Given the description of an element on the screen output the (x, y) to click on. 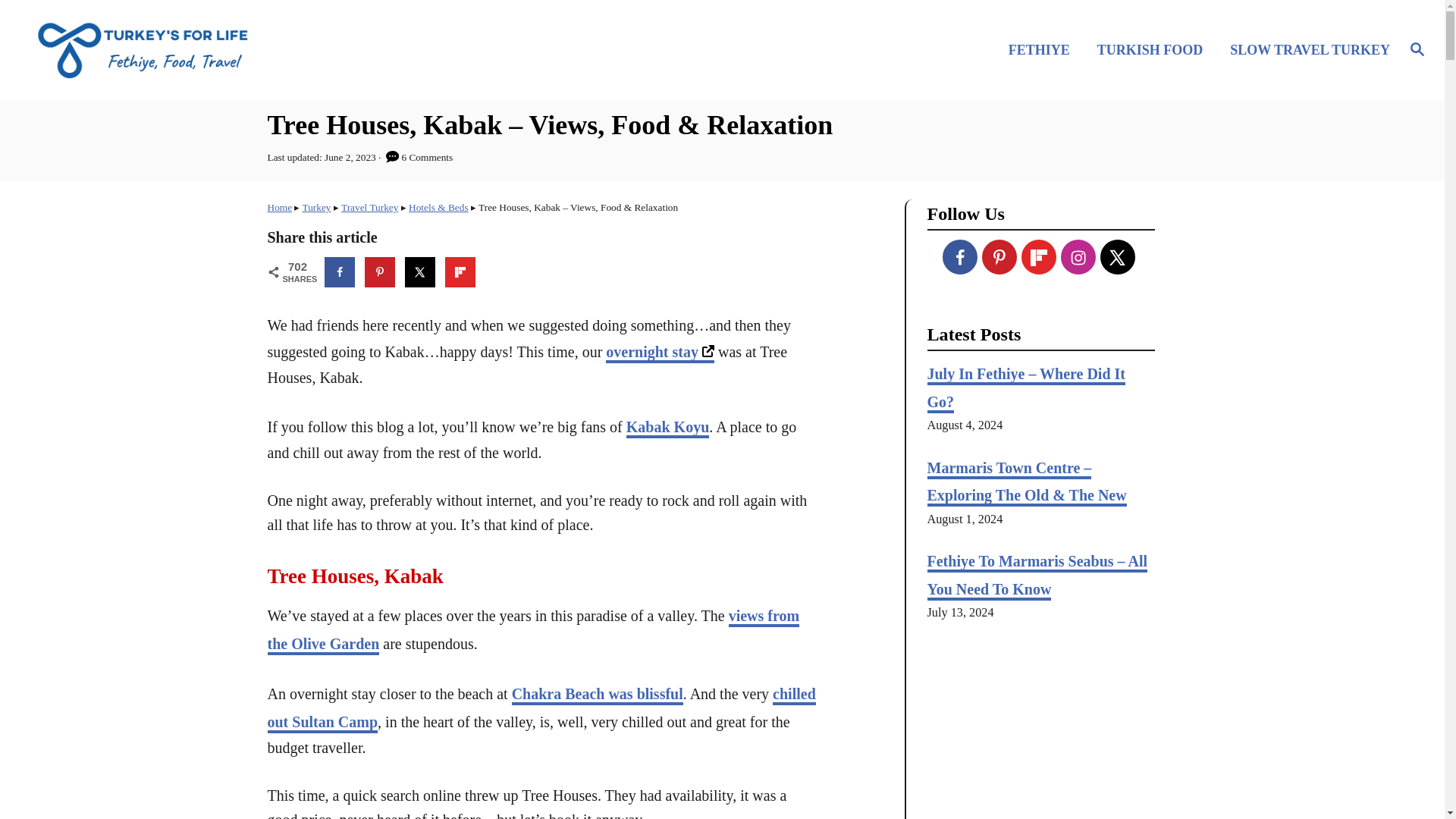
SLOW TRAVEL TURKEY (1305, 49)
Turkey's For Life (204, 49)
TURKISH FOOD (1154, 49)
Share on Facebook (339, 272)
Save to Pinterest (379, 272)
Travel Turkey (368, 206)
Share on Flipboard (460, 272)
Share on X (419, 272)
Home (279, 206)
Magnifying Glass (1416, 48)
